Given the description of an element on the screen output the (x, y) to click on. 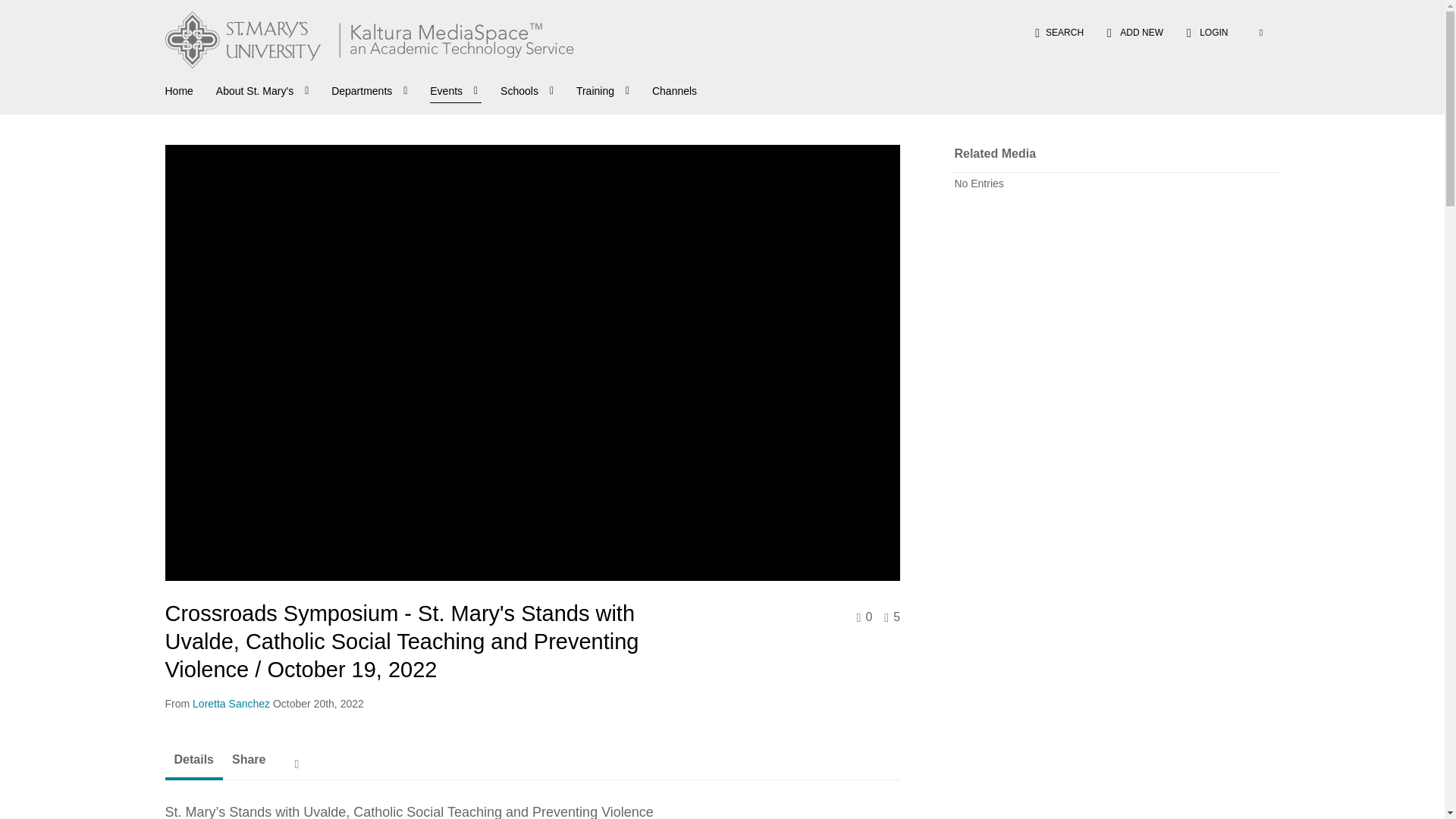
toggle contrast mode (1260, 31)
About St. Mary's (264, 89)
LOGIN (1207, 31)
ADD NEW (1135, 31)
Departments (370, 89)
Home (179, 89)
SEARCH (1059, 31)
